Given the description of an element on the screen output the (x, y) to click on. 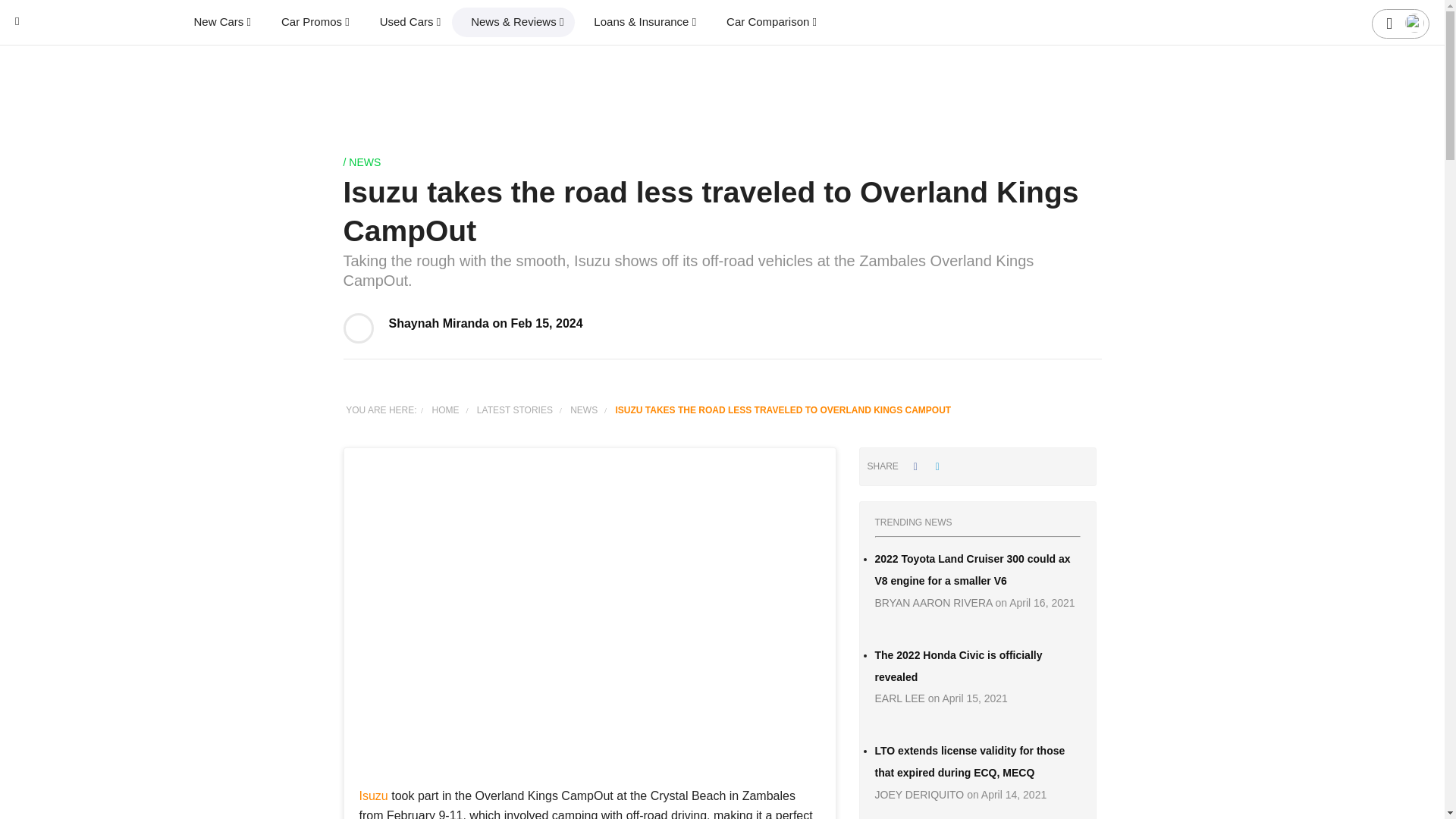
New Cars (222, 21)
